Given the description of an element on the screen output the (x, y) to click on. 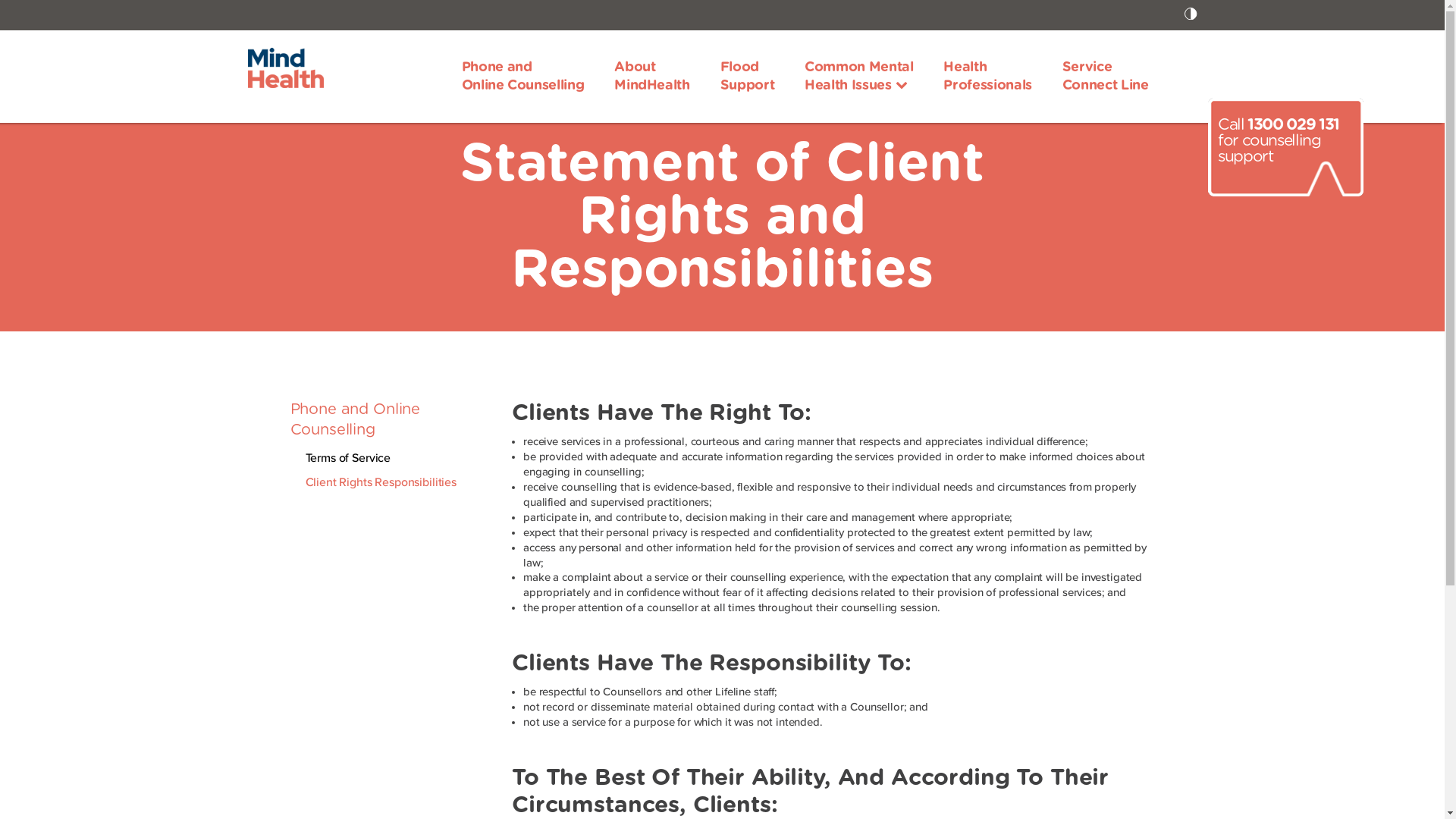
Service
Connect Line Element type: text (1105, 77)
Toggle High Contrast icon Element type: text (1190, 15)
Phone and
Online Counselling Element type: text (522, 77)
Client Rights Responsibilities Element type: text (380, 482)
MindHealth Element type: hover (285, 67)
Terms of Service Element type: text (347, 458)
About
MindHealth Element type: text (651, 77)
1300 029 131 Element type: text (1293, 124)
Flood
Support Element type: text (747, 77)
Phone and Online Counselling Element type: text (354, 419)
Common Mental
Health Issues Element type: text (858, 77)
Health
Professionals Element type: text (987, 77)
